Given the description of an element on the screen output the (x, y) to click on. 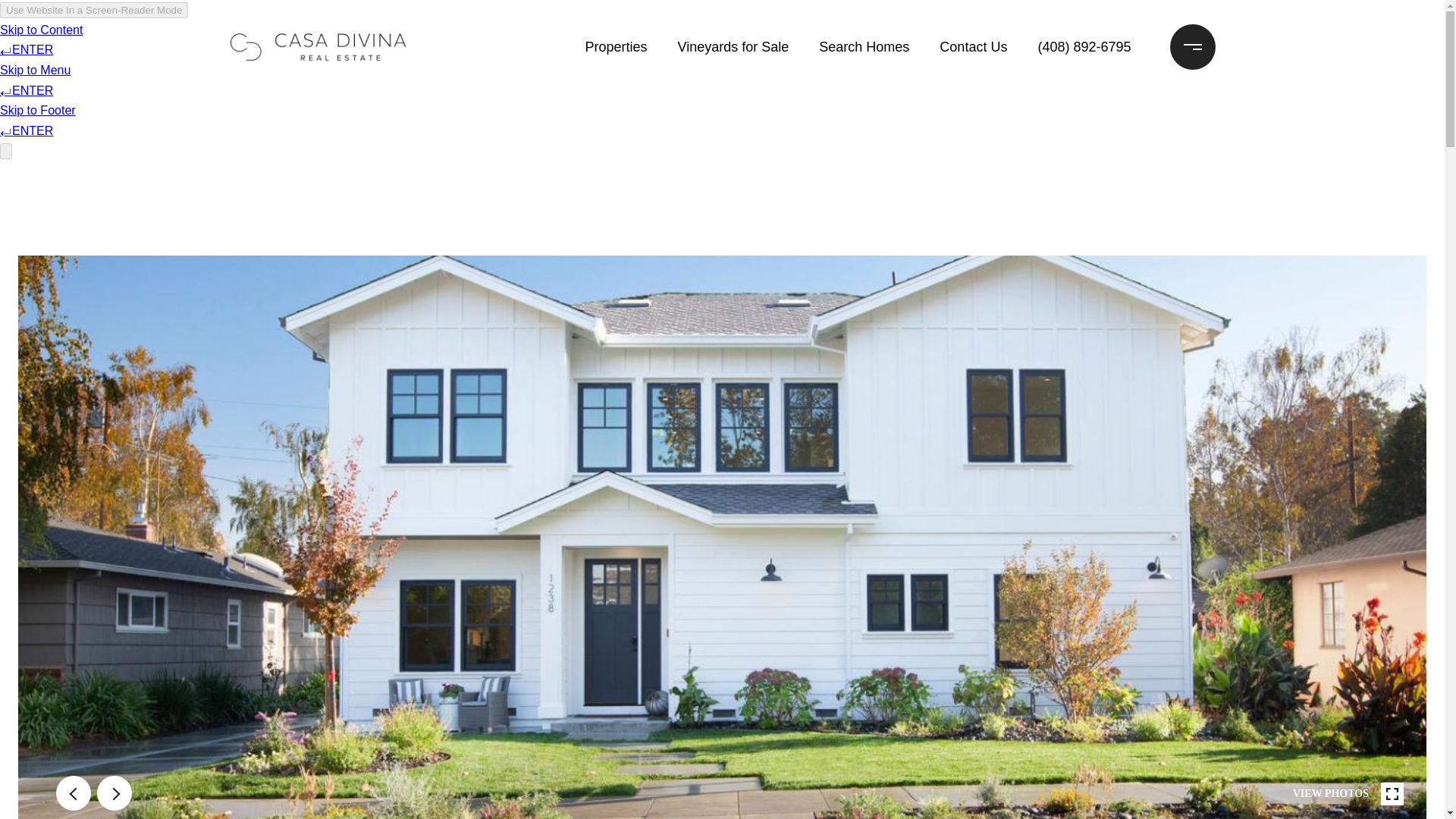
Properties (614, 46)
Contact Us (972, 46)
Vineyards for Sale (732, 46)
prev (73, 792)
next (114, 792)
Search Homes (863, 46)
